Given the description of an element on the screen output the (x, y) to click on. 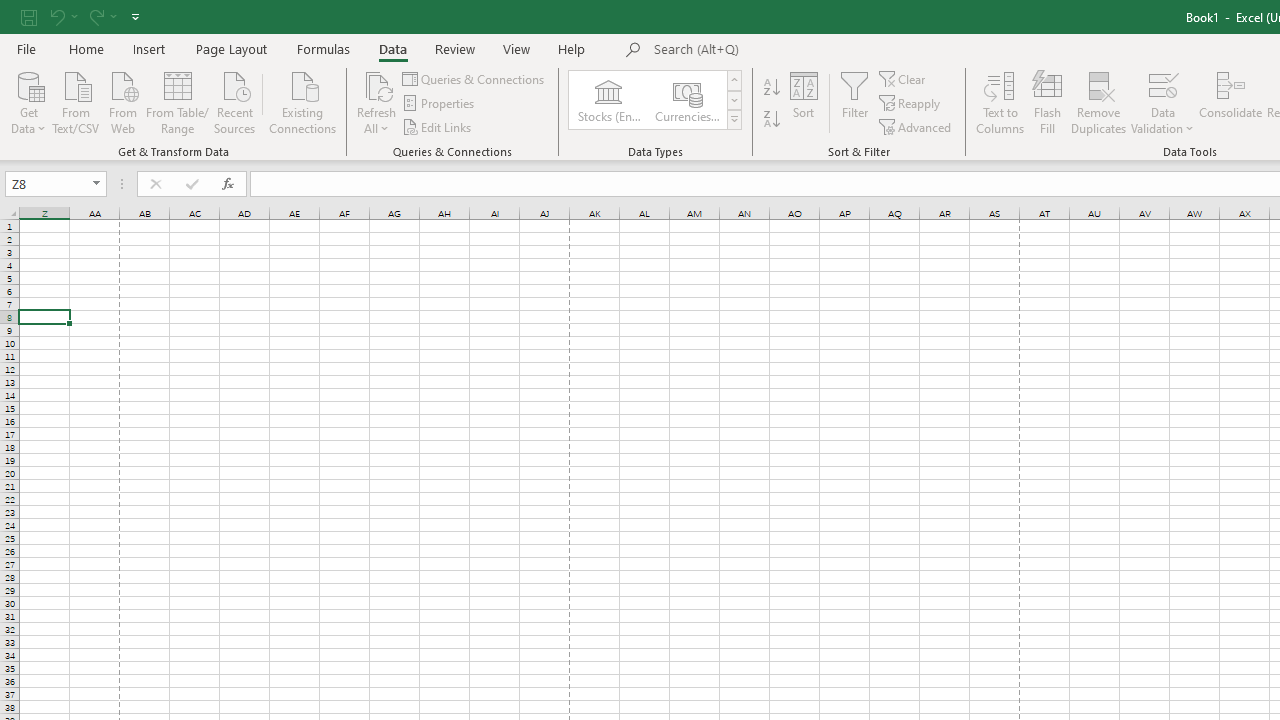
Data Types (734, 120)
Currencies (English) (686, 100)
Stocks (English) (608, 100)
Recent Sources (235, 101)
Get Data (28, 101)
Queries & Connections (474, 78)
From Text/CSV (75, 101)
Reapply (911, 103)
Consolidate... (1230, 102)
